Given the description of an element on the screen output the (x, y) to click on. 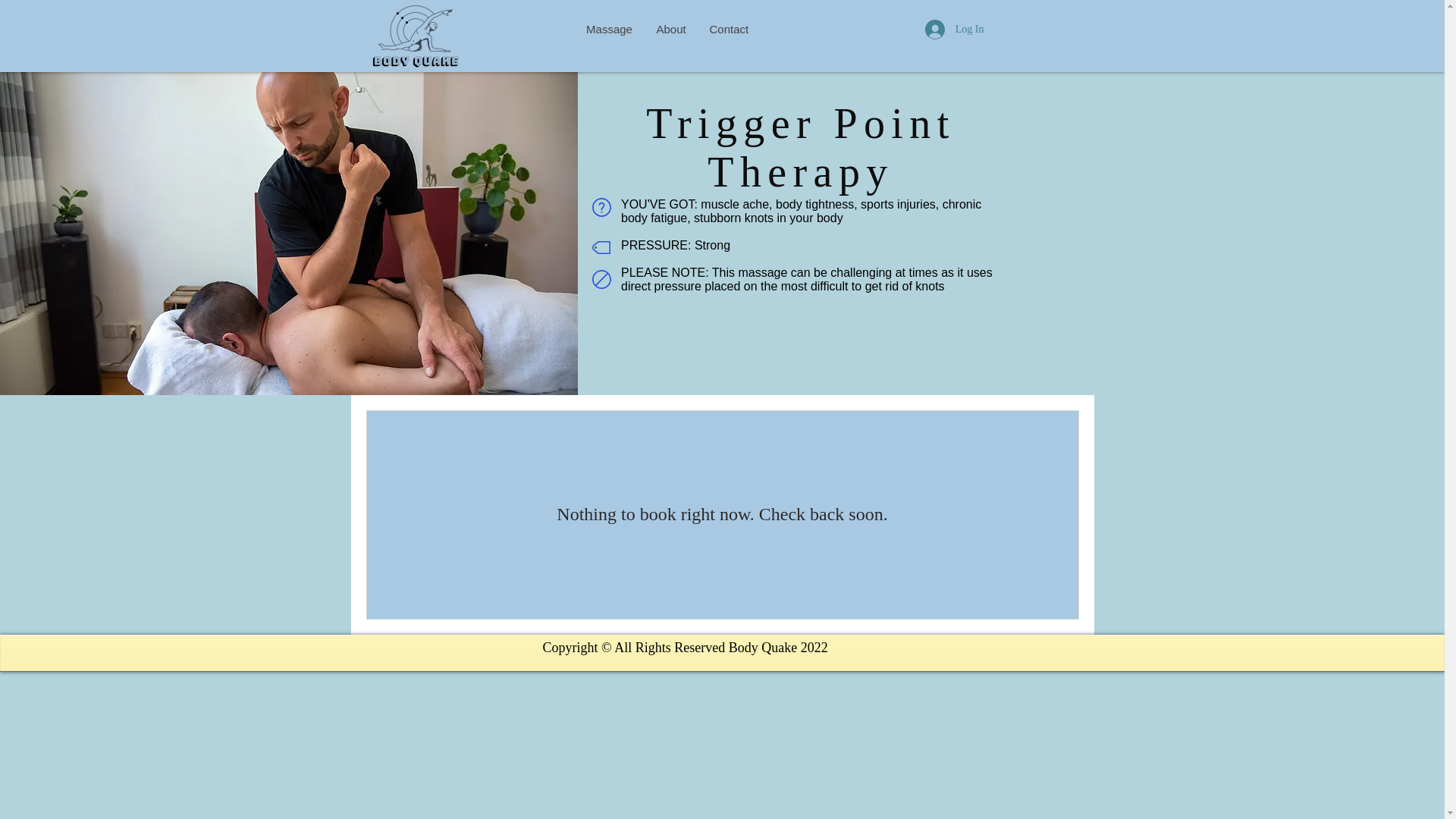
Log In (954, 29)
About (671, 29)
Massage (610, 29)
Contact (728, 29)
